Given the description of an element on the screen output the (x, y) to click on. 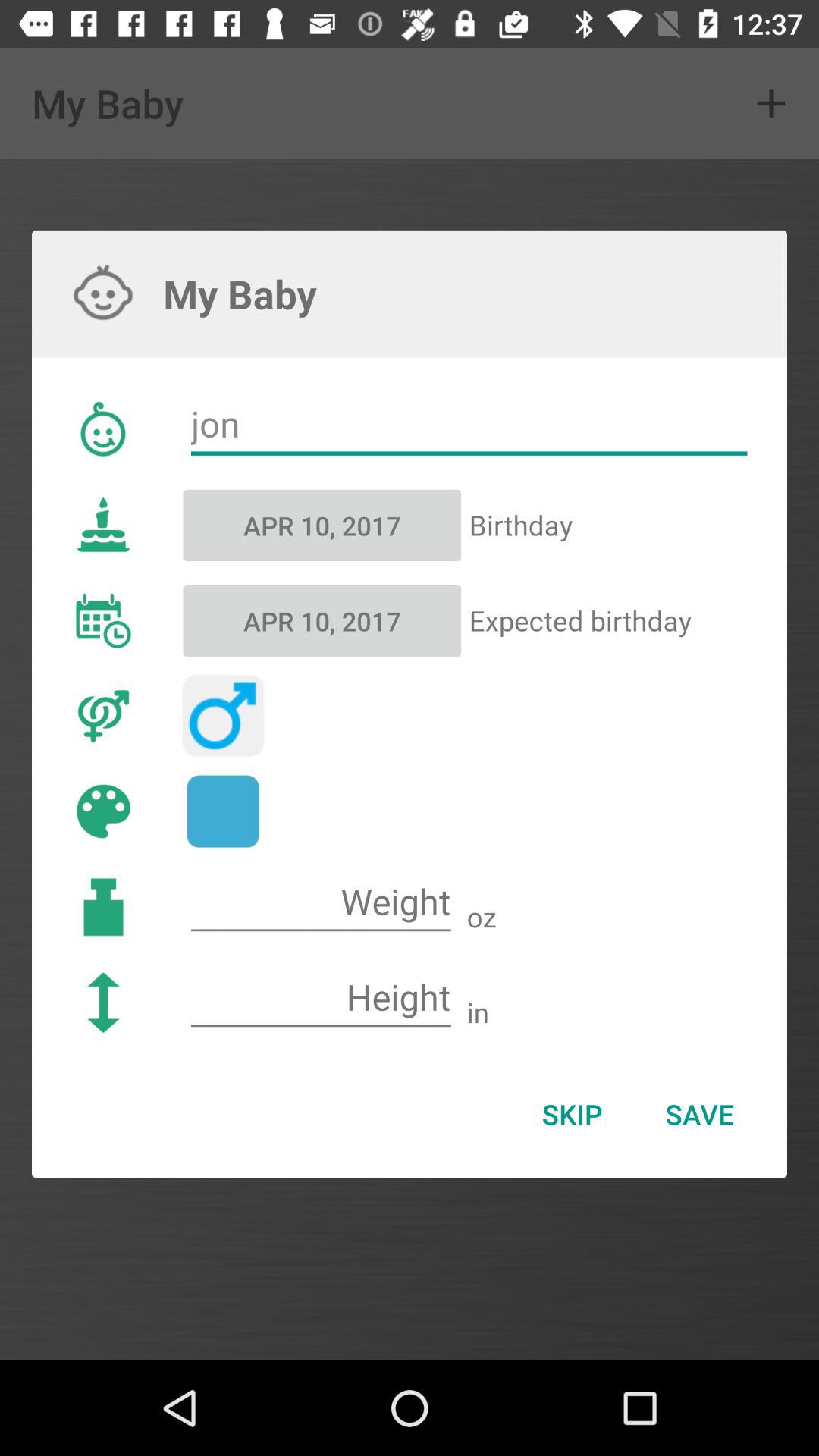
height (320, 998)
